Given the description of an element on the screen output the (x, y) to click on. 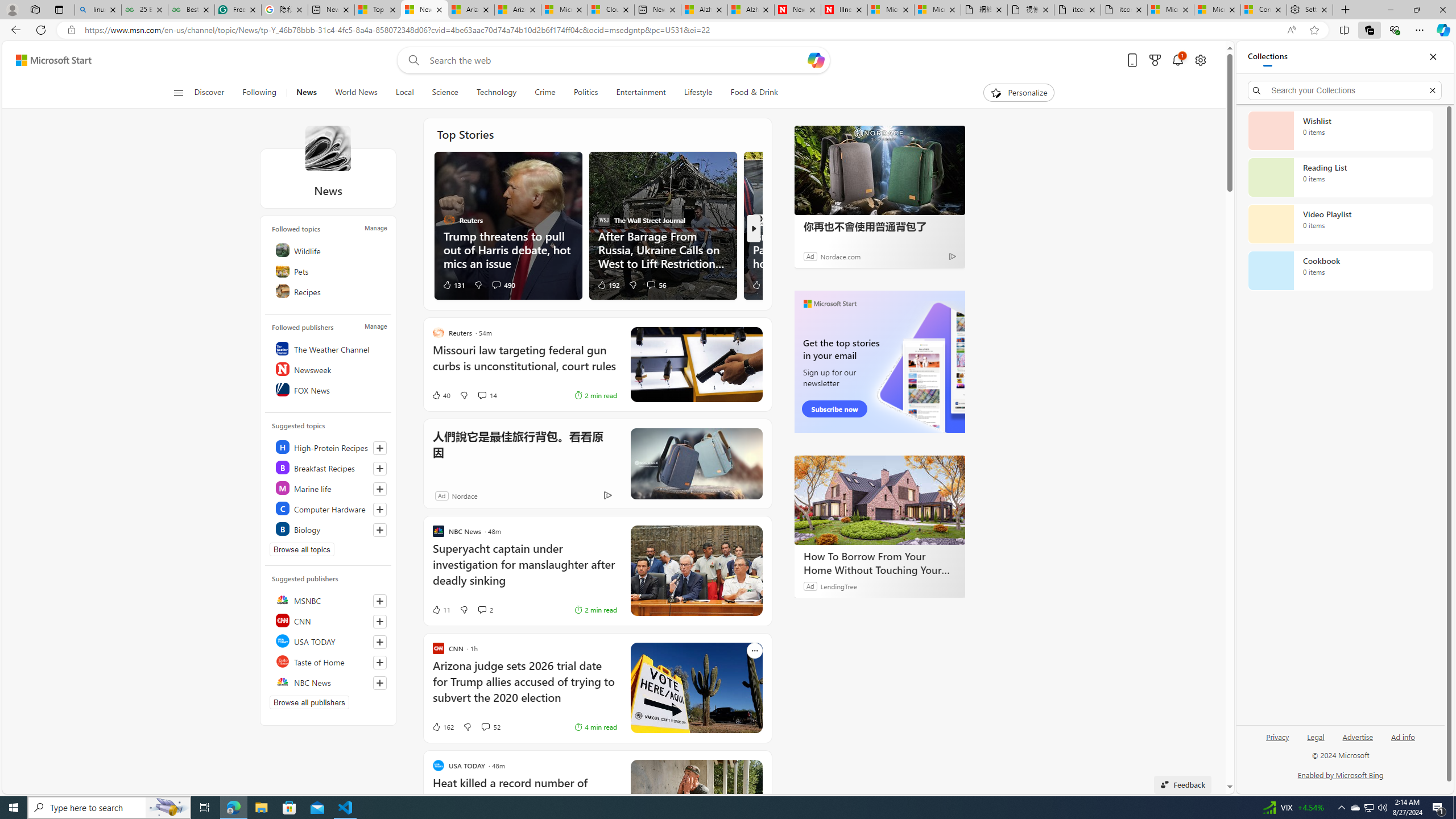
View comments 14 Comment (481, 394)
Follow this source (379, 682)
Wishlist collection, 0 items (1339, 130)
How To Borrow From Your Home Without Touching Your Mortgage (879, 562)
Crime (545, 92)
Follow this topic (379, 529)
Legal (1315, 736)
131 Like (452, 284)
